Given the description of an element on the screen output the (x, y) to click on. 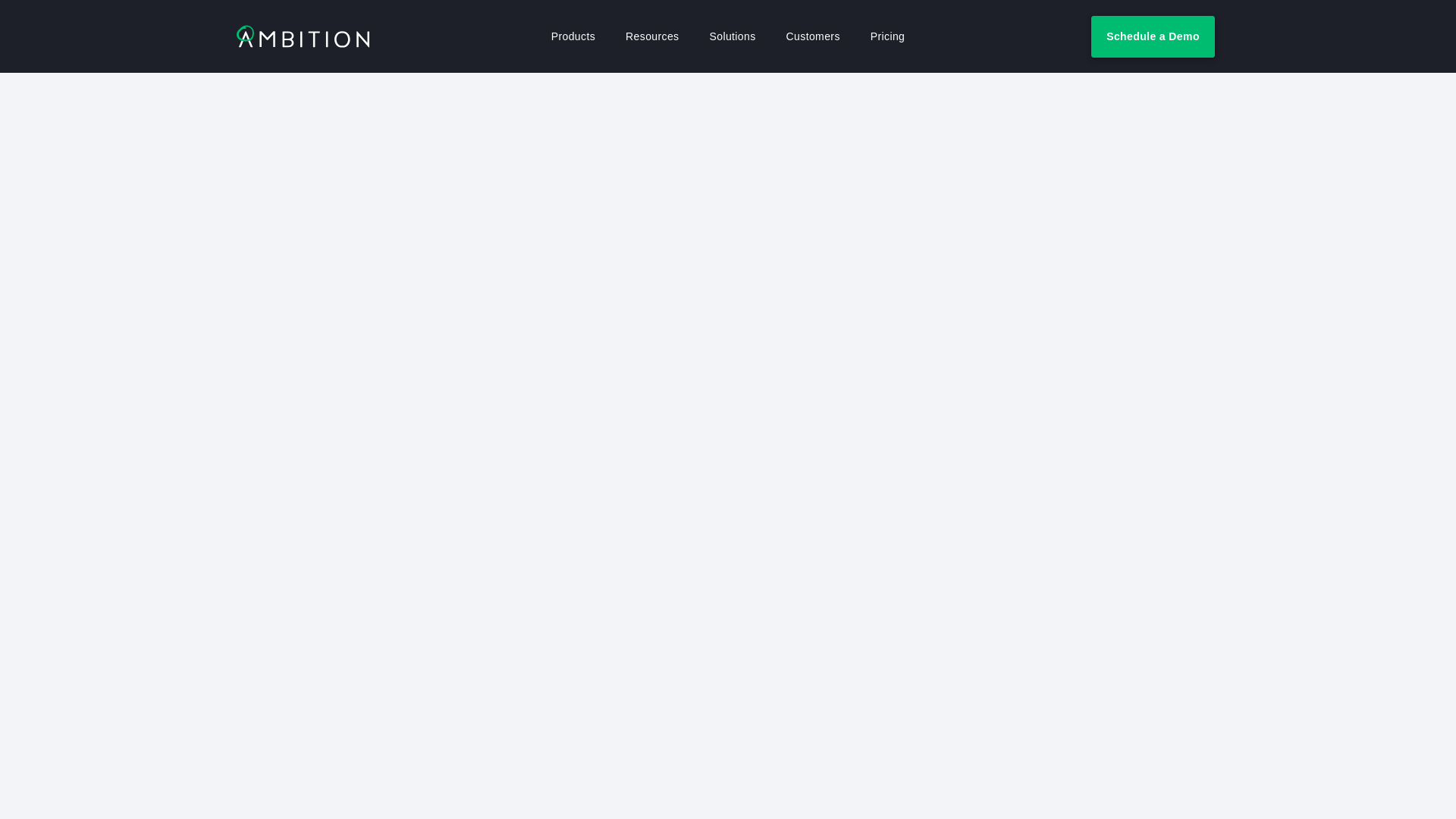
Solutions (732, 36)
Ambition (302, 35)
Customers (812, 36)
Products (572, 36)
Pricing (887, 36)
Resources (651, 36)
